Given the description of an element on the screen output the (x, y) to click on. 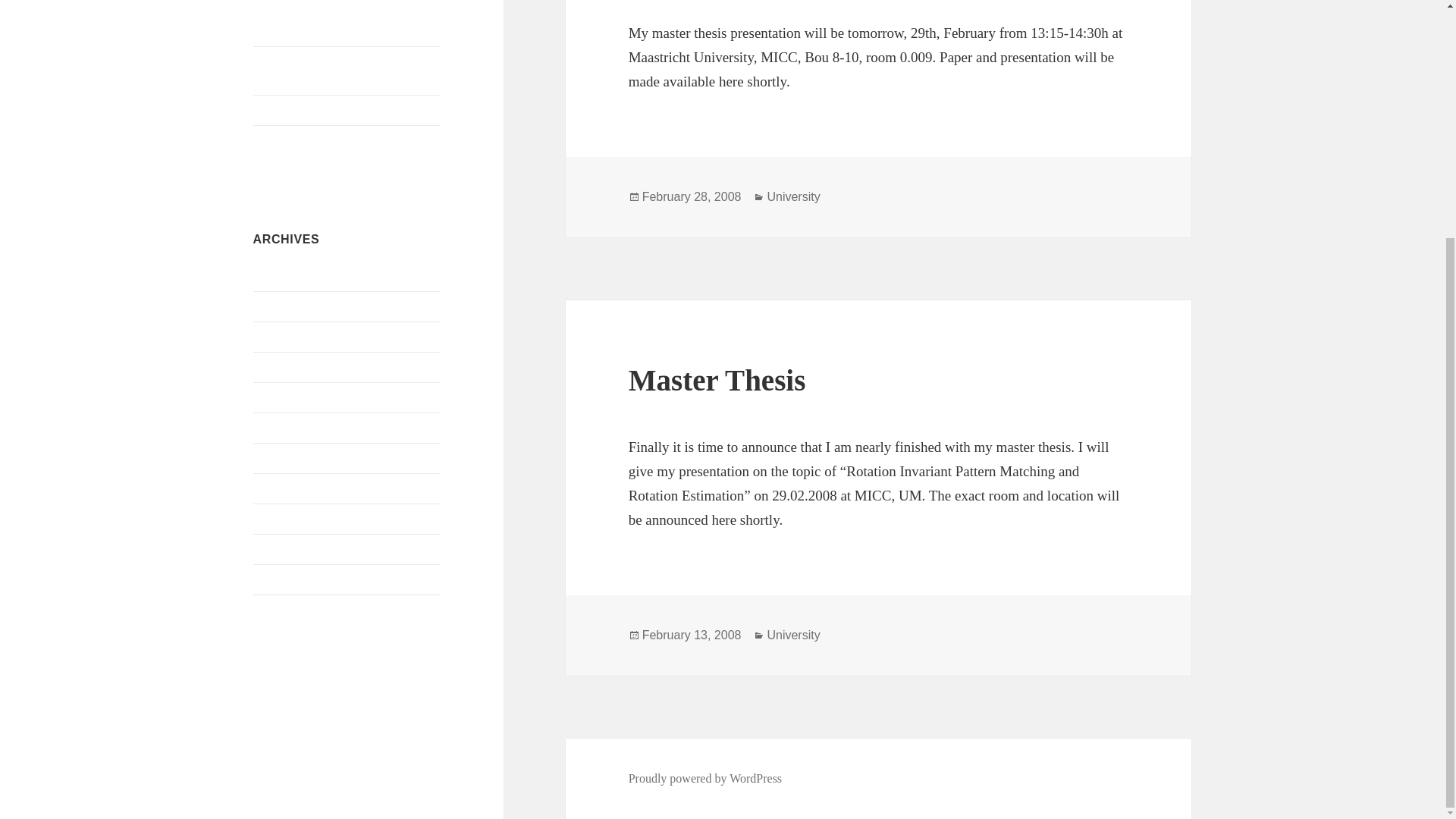
November 2010 (292, 517)
March 2012 (283, 427)
January 2015 (285, 275)
July 2012 (277, 396)
February 2013 (288, 336)
Proudly powered by WordPress (704, 778)
March 2013 (283, 305)
Howto Fedora 18 clamav and claws-mail (341, 70)
Master Thesis (717, 379)
WPA2-Enterprise home wifi via OpenWrt (331, 21)
